Given the description of an element on the screen output the (x, y) to click on. 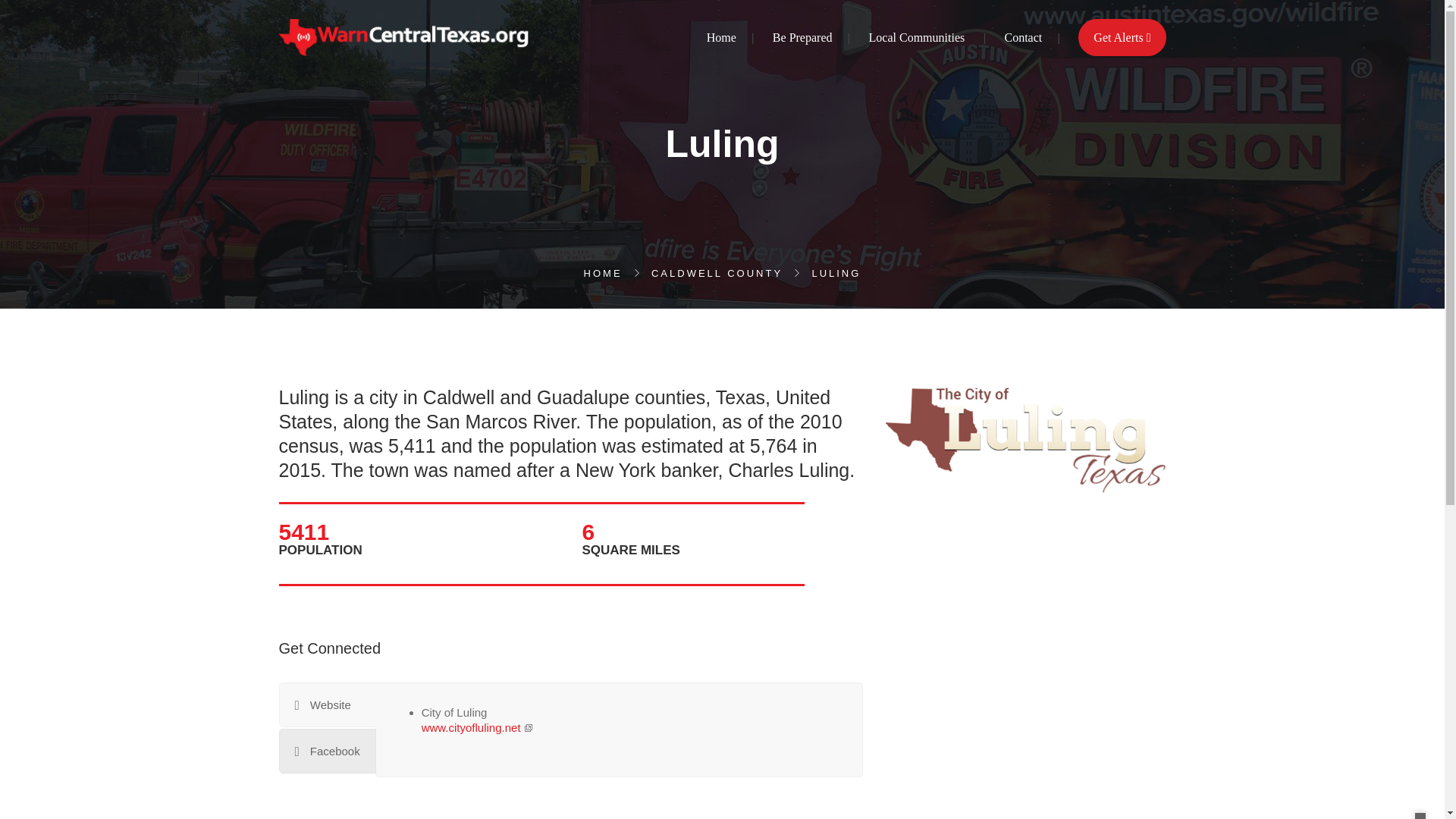
Be Prepared (802, 37)
Get Alerts (1121, 37)
Luling-logo (1025, 440)
Home (721, 37)
Local Communities (917, 37)
Contact (1023, 37)
